Given the description of an element on the screen output the (x, y) to click on. 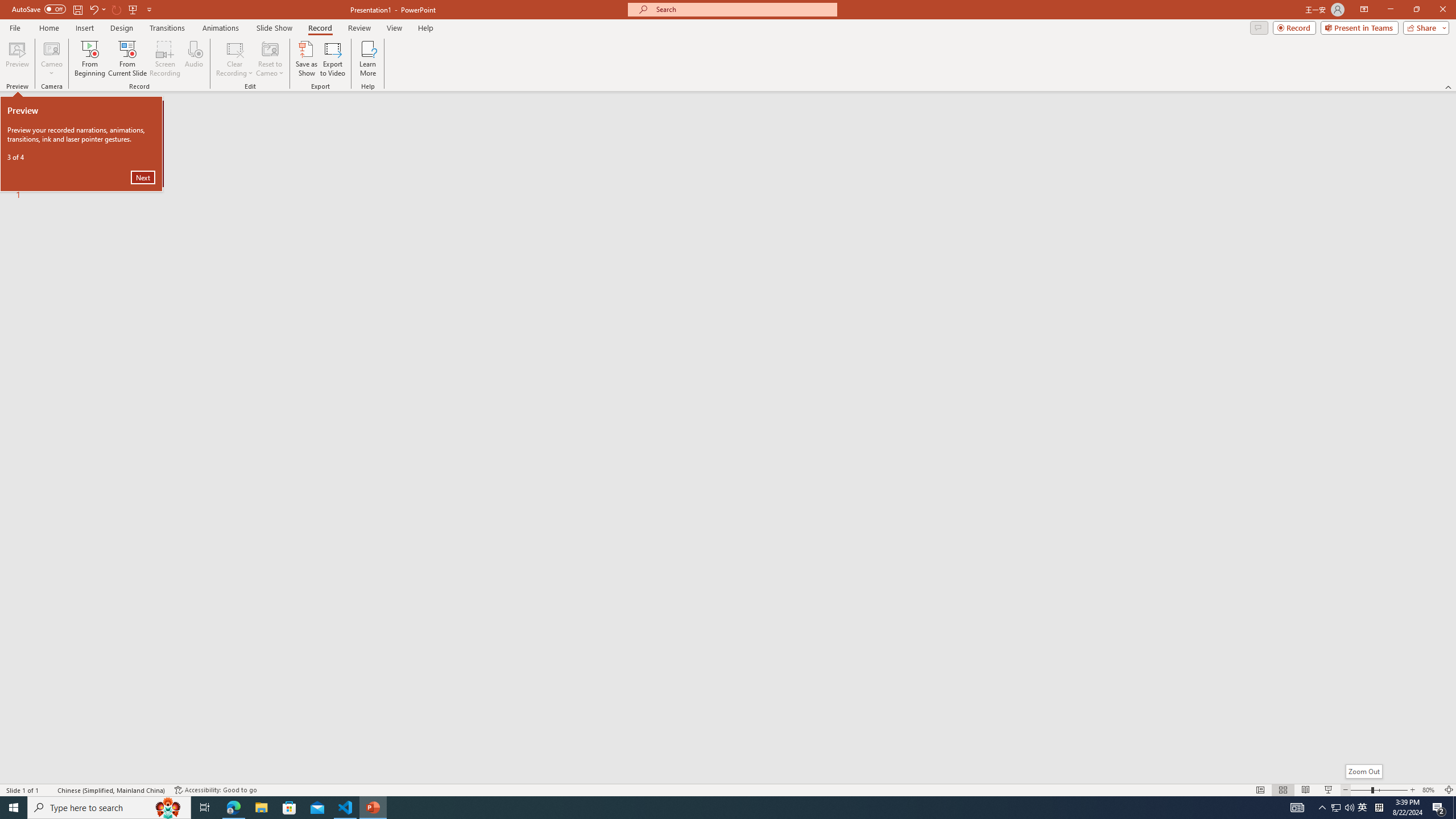
Audio (193, 58)
